Given the description of an element on the screen output the (x, y) to click on. 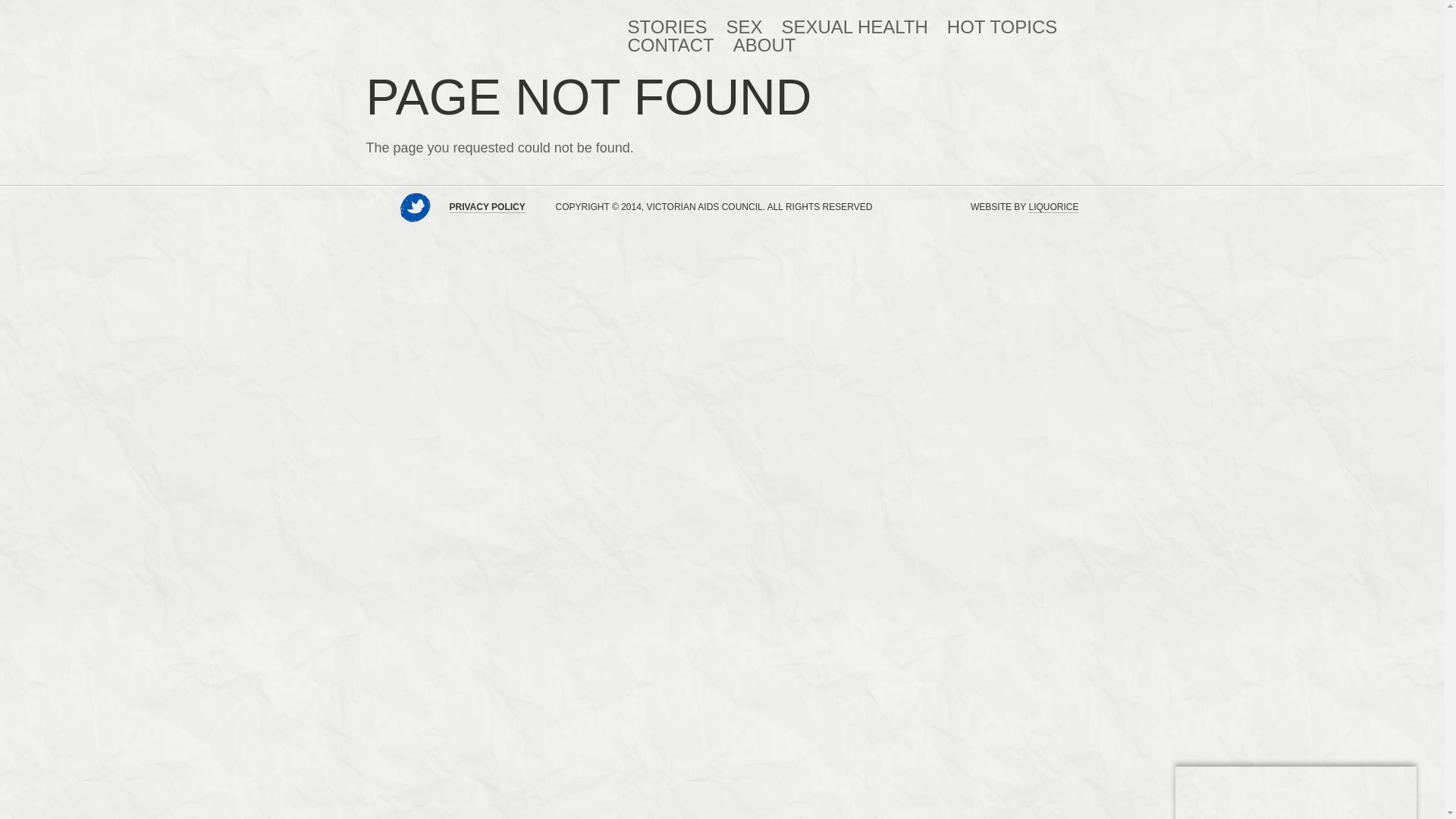
PRIVACY POLICY Element type: text (486, 207)
ABOUT Element type: text (764, 45)
SEX Element type: text (743, 27)
SEXUAL HEALTH Element type: text (854, 27)
TWITTER Element type: text (415, 207)
Staying Negative Element type: text (479, 24)
FACEBOOK Element type: text (380, 207)
LIQUORICE Element type: text (1053, 207)
CONTACT Element type: text (670, 45)
HOT TOPICS Element type: text (1002, 27)
STORIES Element type: text (667, 27)
